Given the description of an element on the screen output the (x, y) to click on. 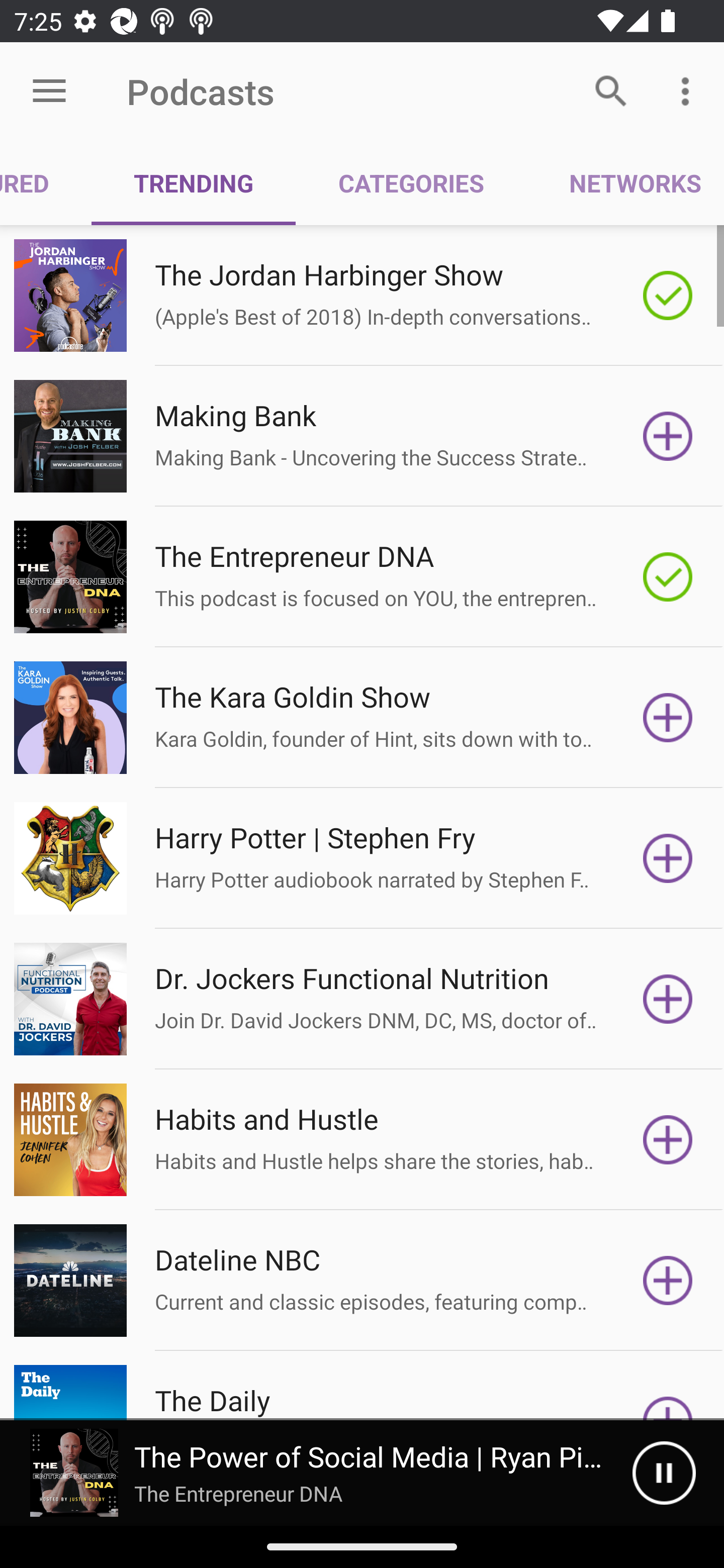
Open menu (49, 91)
Search (611, 90)
More options (688, 90)
TRENDING (193, 183)
CATEGORIES (410, 183)
NETWORKS (625, 183)
Subscribed (667, 295)
Subscribe (667, 435)
Subscribed (667, 576)
Subscribe (667, 717)
Subscribe (667, 858)
Subscribe (667, 998)
Subscribe (667, 1139)
Subscribe (667, 1280)
Pause (663, 1472)
